Given the description of an element on the screen output the (x, y) to click on. 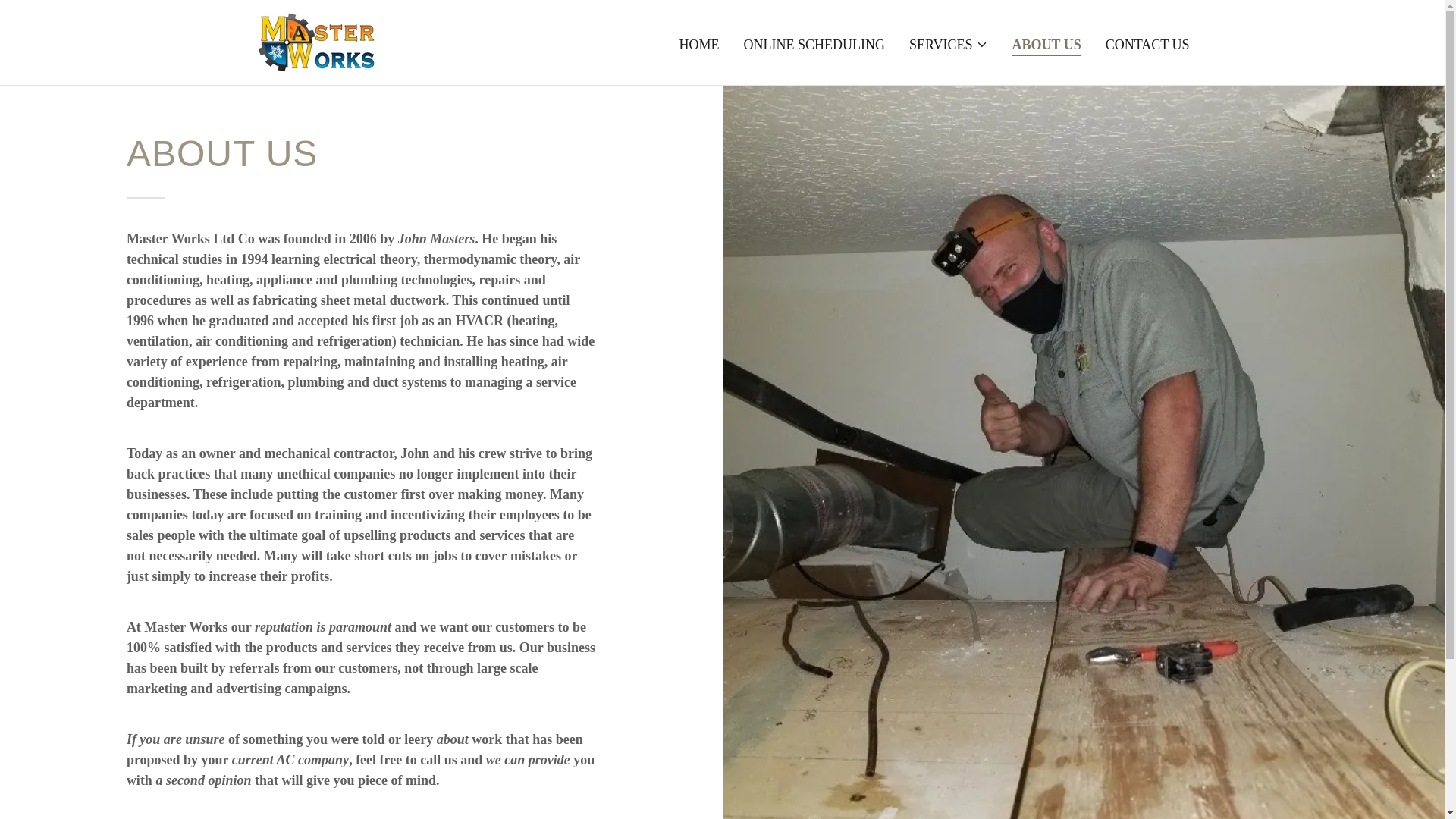
ABOUT US (1046, 45)
CONTACT US (1146, 43)
ONLINE SCHEDULING (813, 43)
Marin Remodeling (314, 40)
SERVICES (948, 44)
HOME (698, 43)
